Given the description of an element on the screen output the (x, y) to click on. 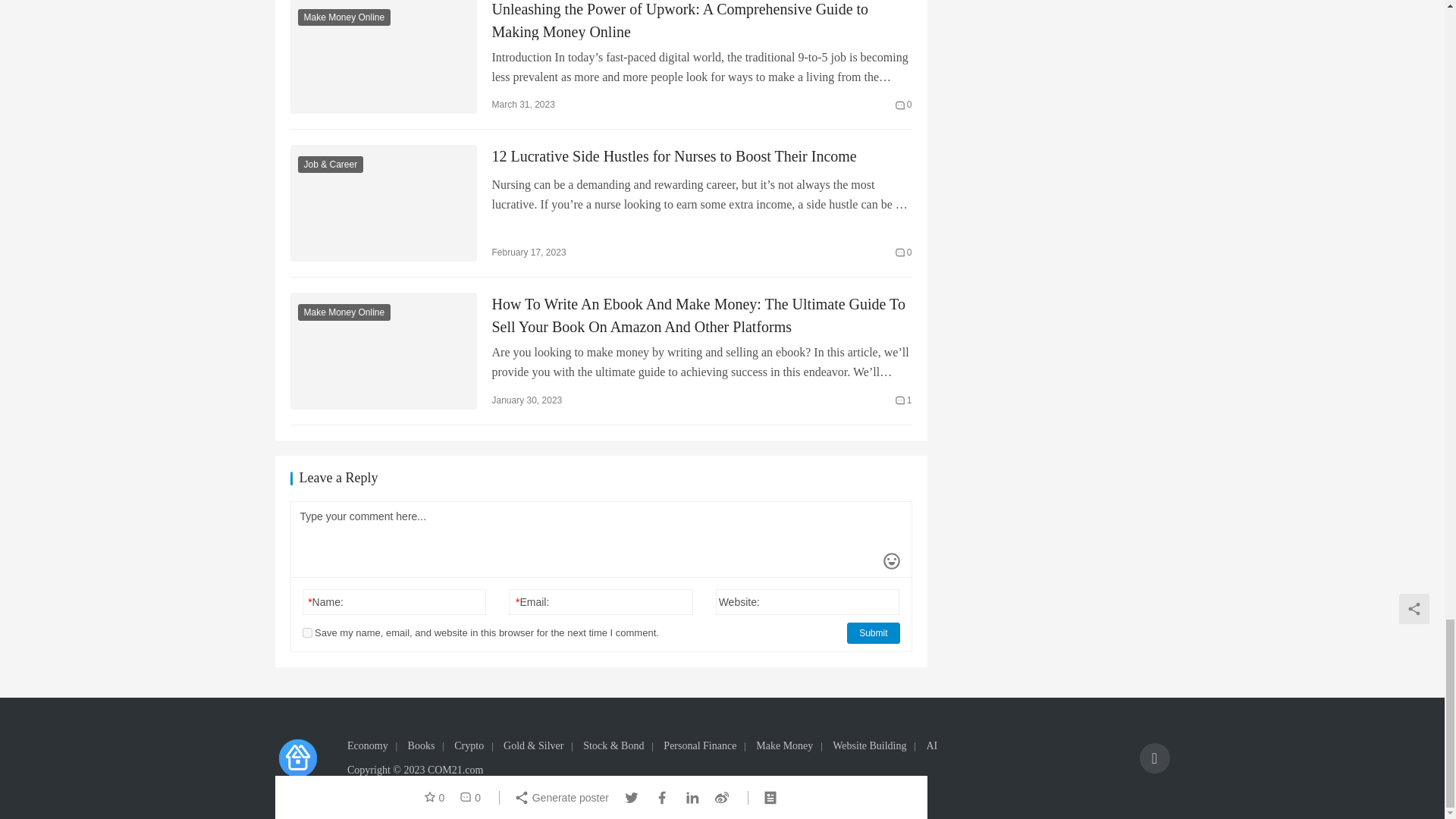
yes (306, 633)
